Given the description of an element on the screen output the (x, y) to click on. 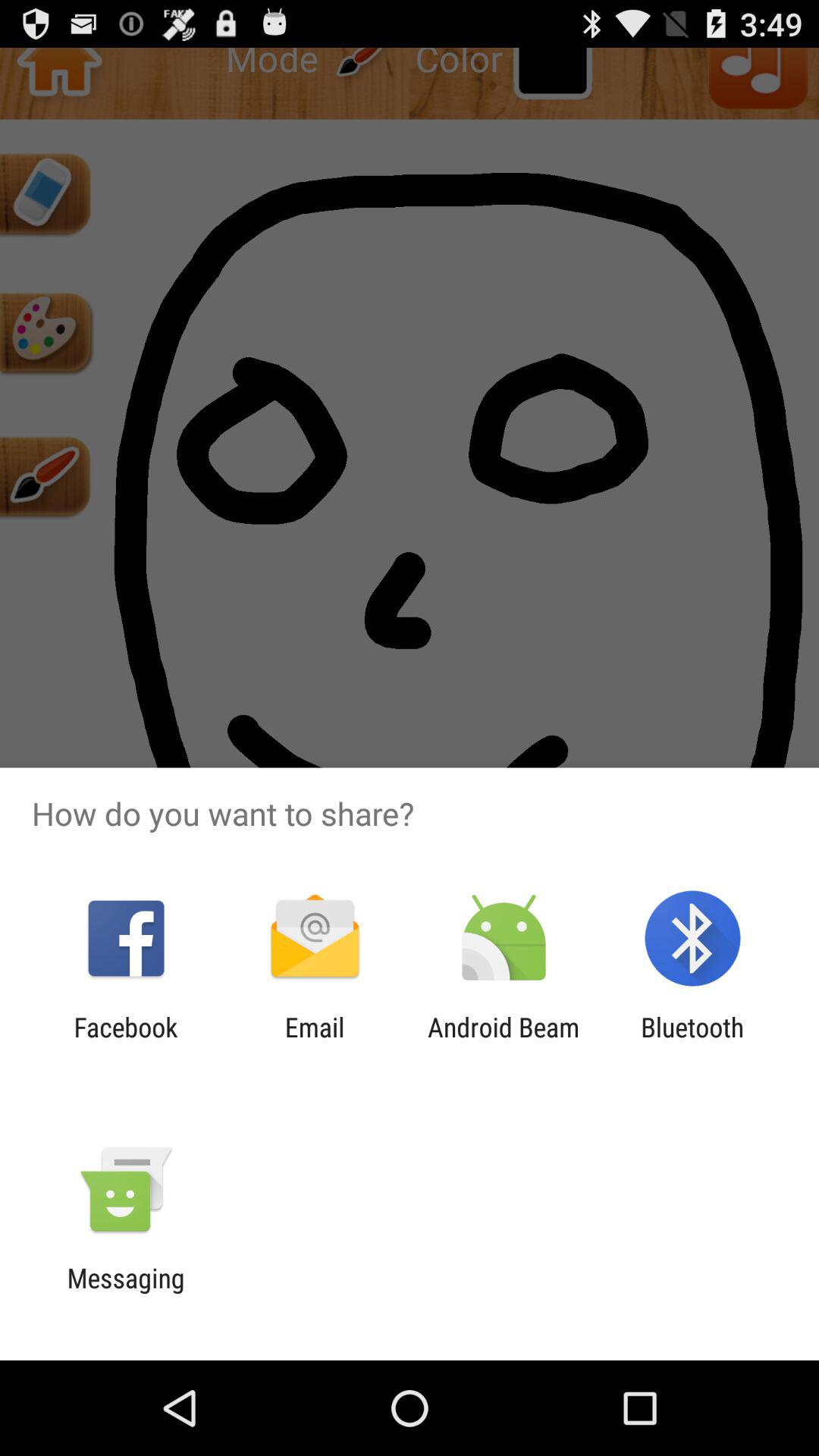
tap facebook app (125, 1042)
